Given the description of an element on the screen output the (x, y) to click on. 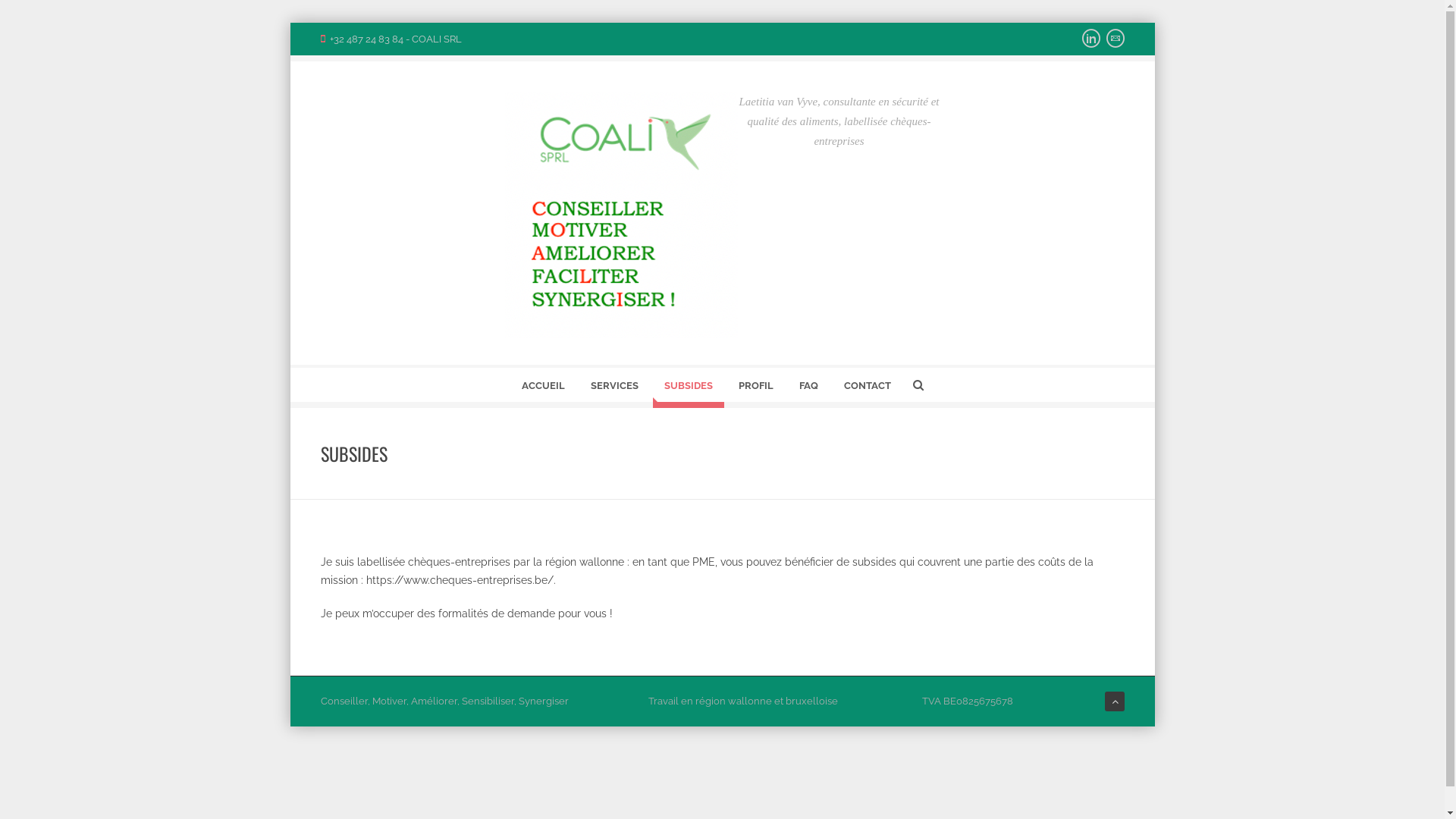
FAQ Element type: text (807, 388)
SUBSIDES Element type: text (687, 388)
CONTACT Element type: text (867, 388)
PROFIL Element type: text (755, 388)
SERVICES Element type: text (614, 388)
ACCUEIL Element type: text (542, 388)
